Given the description of an element on the screen output the (x, y) to click on. 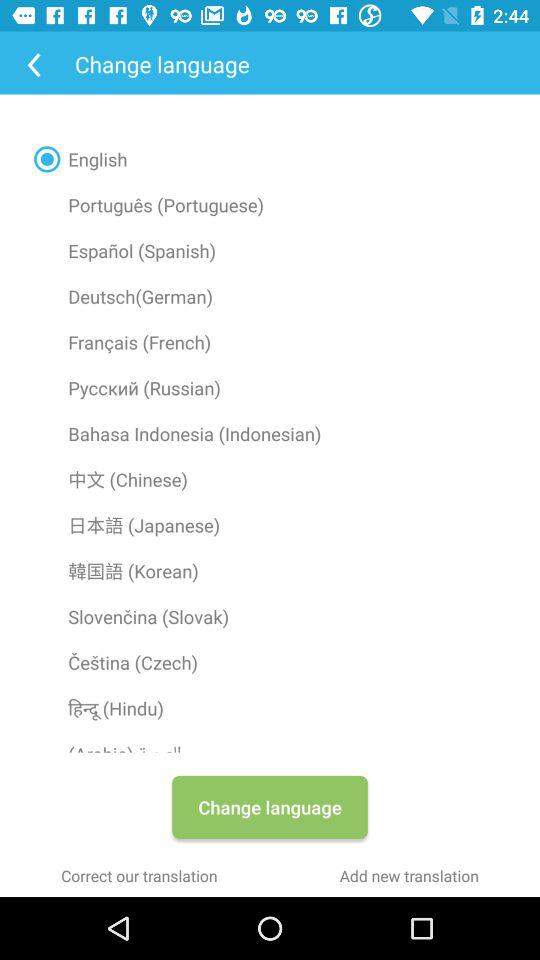
launch the item next to add new translation icon (139, 875)
